Given the description of an element on the screen output the (x, y) to click on. 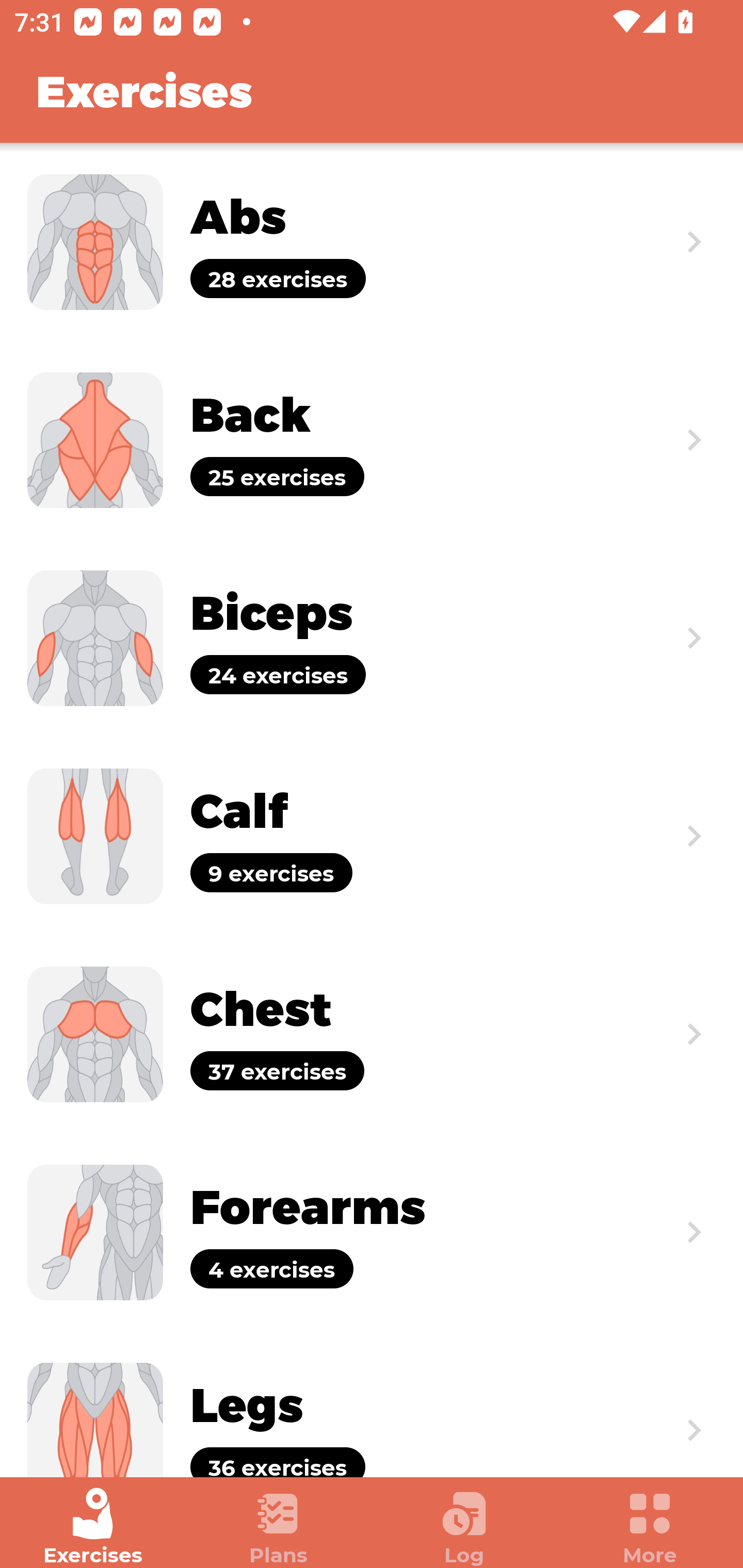
Exercise Abs 28 exercises (371, 241)
Exercise Back 25 exercises (371, 439)
Exercise Biceps 24 exercises (371, 637)
Exercise Calf 9 exercises (371, 836)
Exercise Chest 37 exercises (371, 1033)
Exercise Forearms 4 exercises (371, 1232)
Exercise Legs 36 exercises (371, 1404)
Exercises (92, 1527)
Plans (278, 1527)
Log (464, 1527)
More (650, 1527)
